Given the description of an element on the screen output the (x, y) to click on. 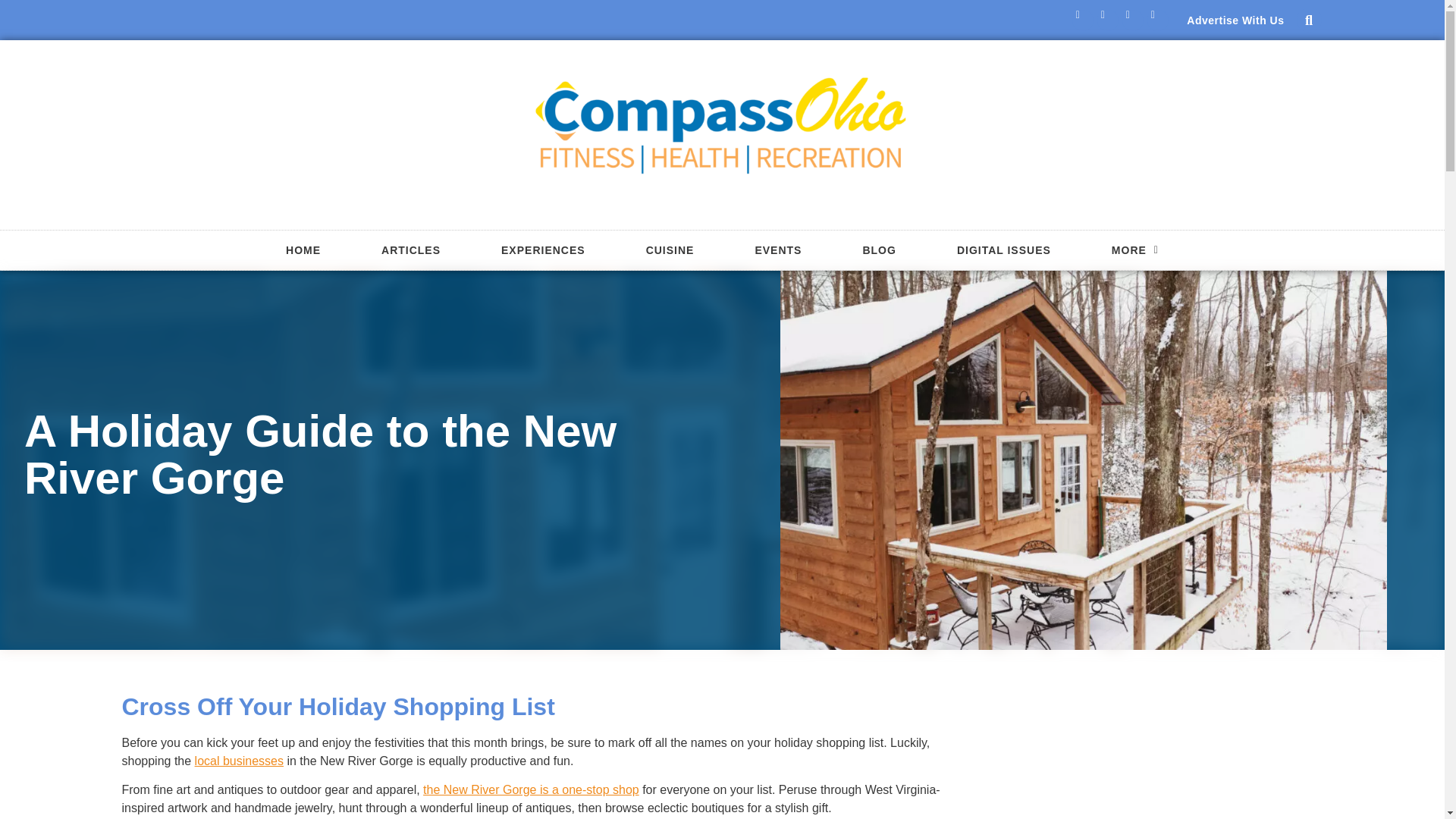
HOME (303, 250)
EXPERIENCES (542, 250)
BLOG (878, 250)
MORE (1135, 250)
ARTICLES (410, 250)
DIGITAL ISSUES (1003, 250)
the New River Gorge is a one-stop shop (531, 789)
CUISINE (670, 250)
Advertise With Us (1235, 20)
EVENTS (777, 250)
local businesses (239, 760)
